Given the description of an element on the screen output the (x, y) to click on. 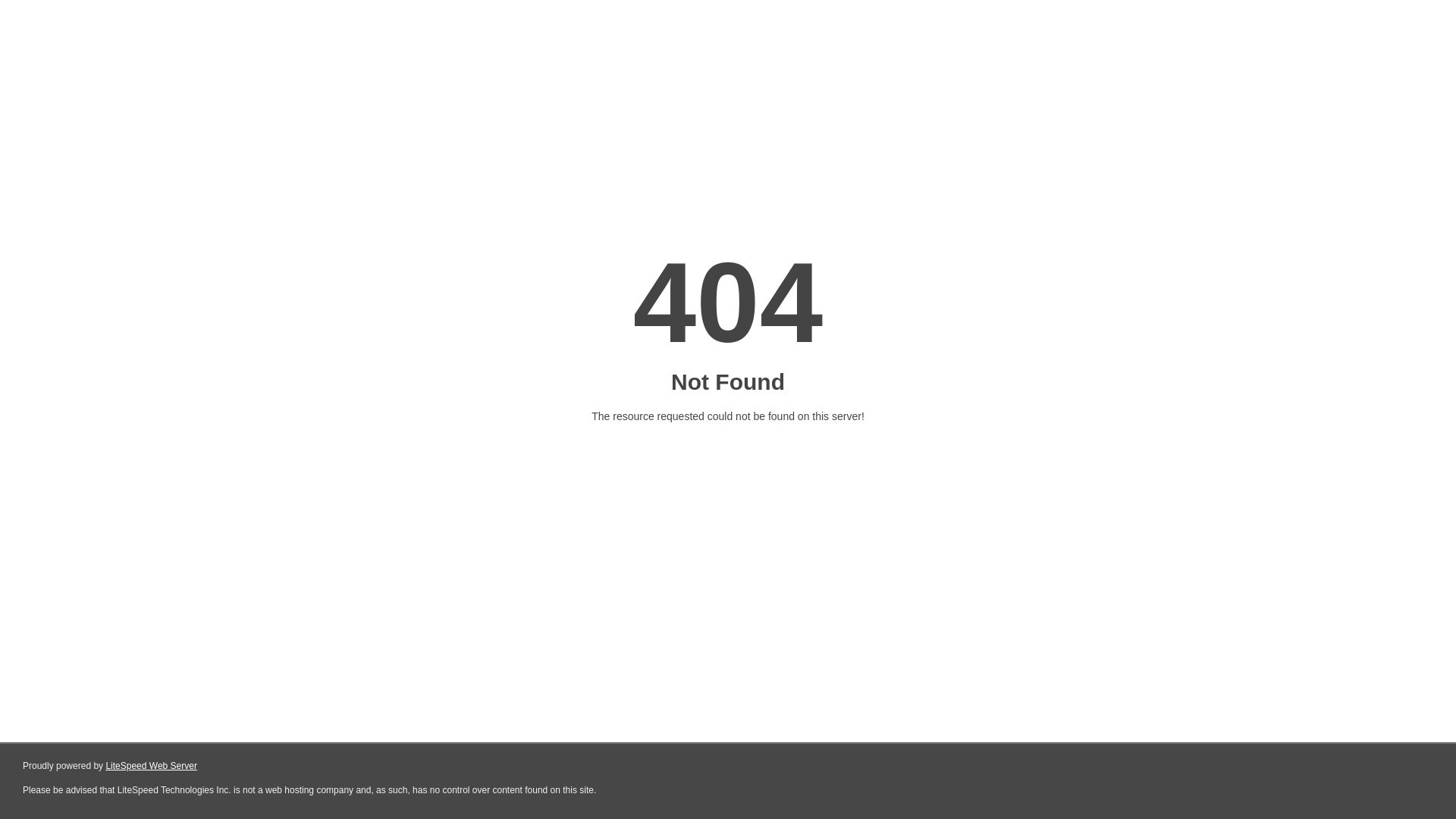
LiteSpeed Web Server Element type: text (151, 765)
